Given the description of an element on the screen output the (x, y) to click on. 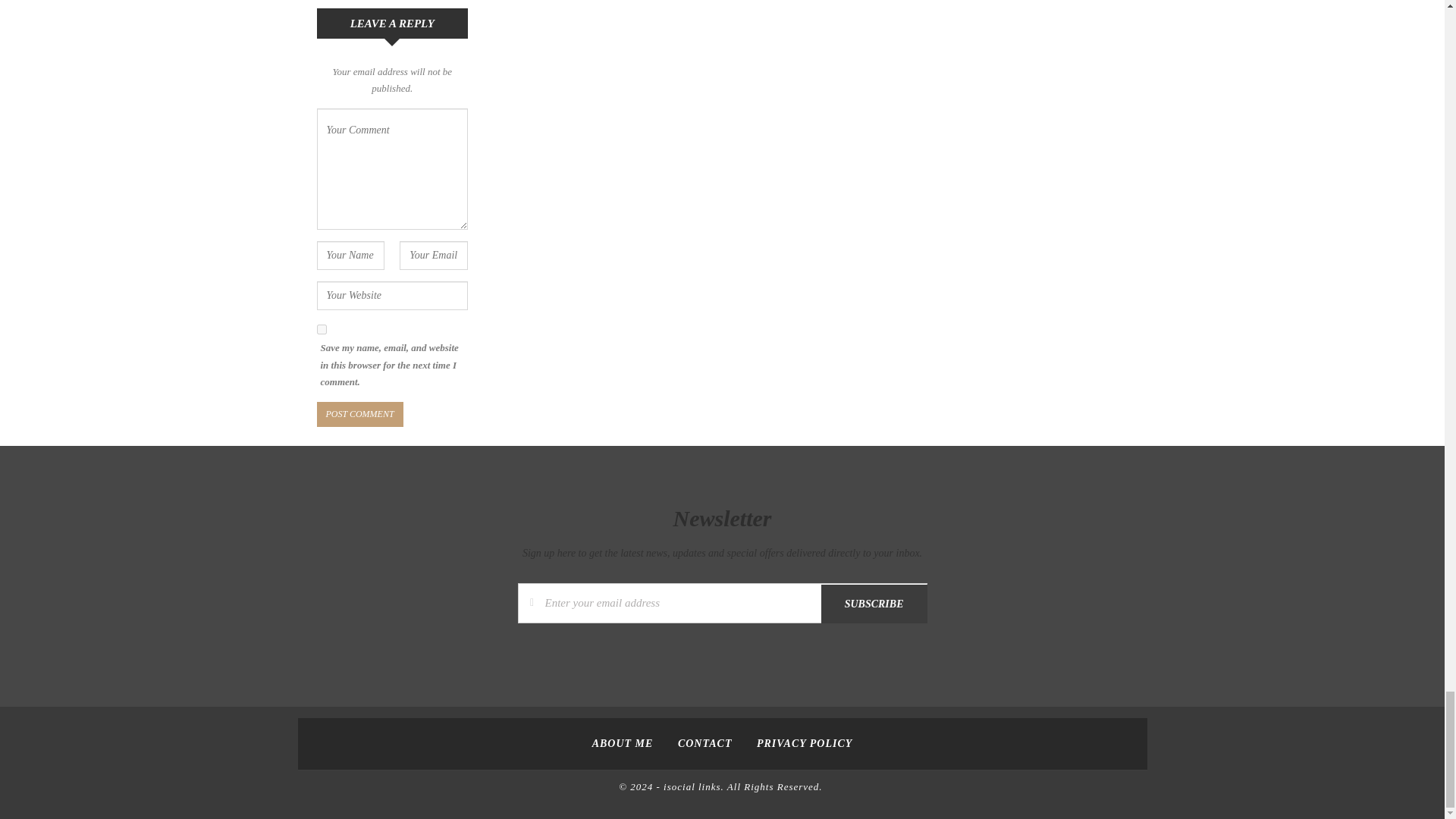
yes (321, 329)
Post Comment (360, 414)
